Given the description of an element on the screen output the (x, y) to click on. 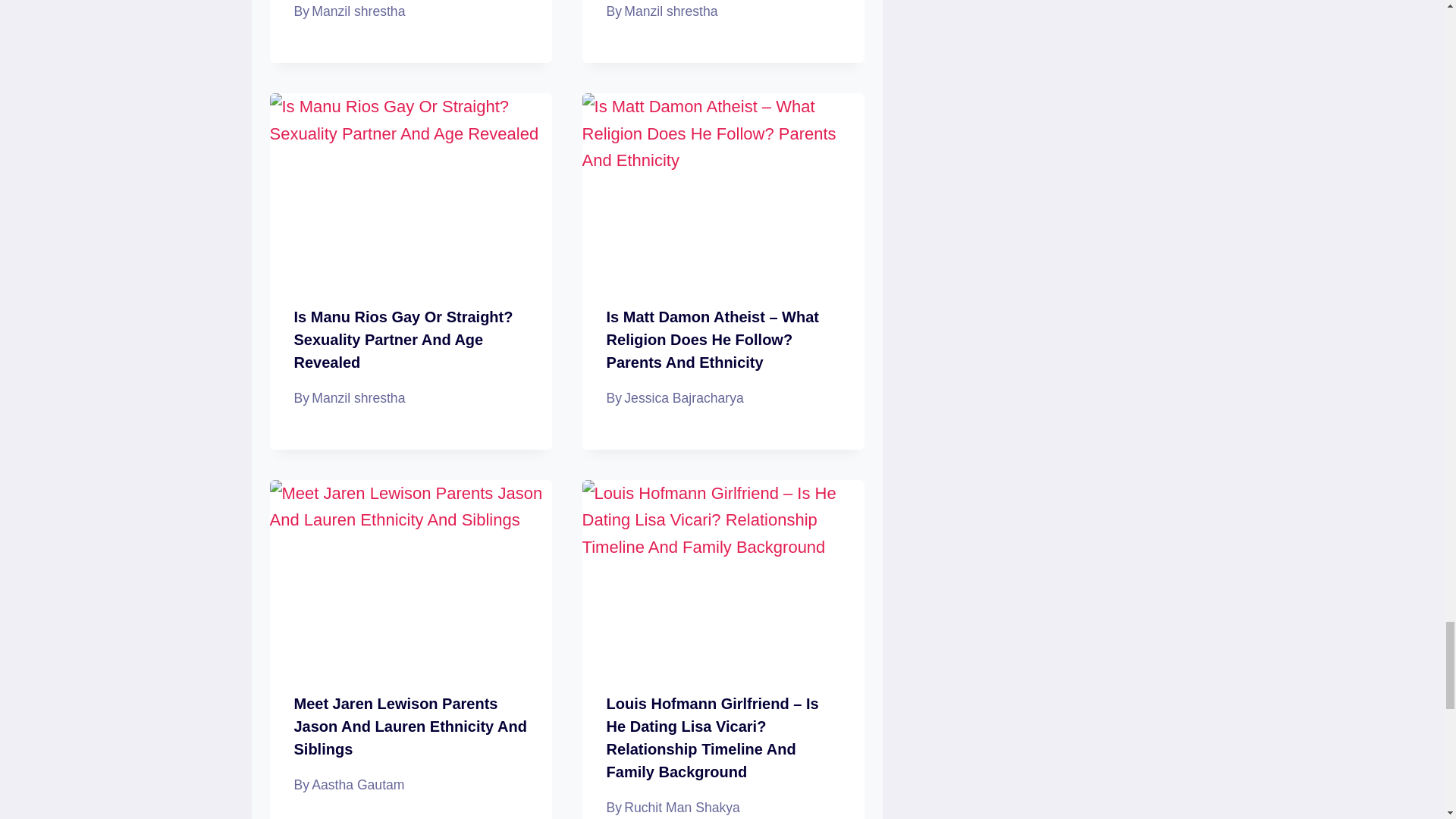
Manzil shrestha (670, 11)
Manzil shrestha (357, 11)
